Given the description of an element on the screen output the (x, y) to click on. 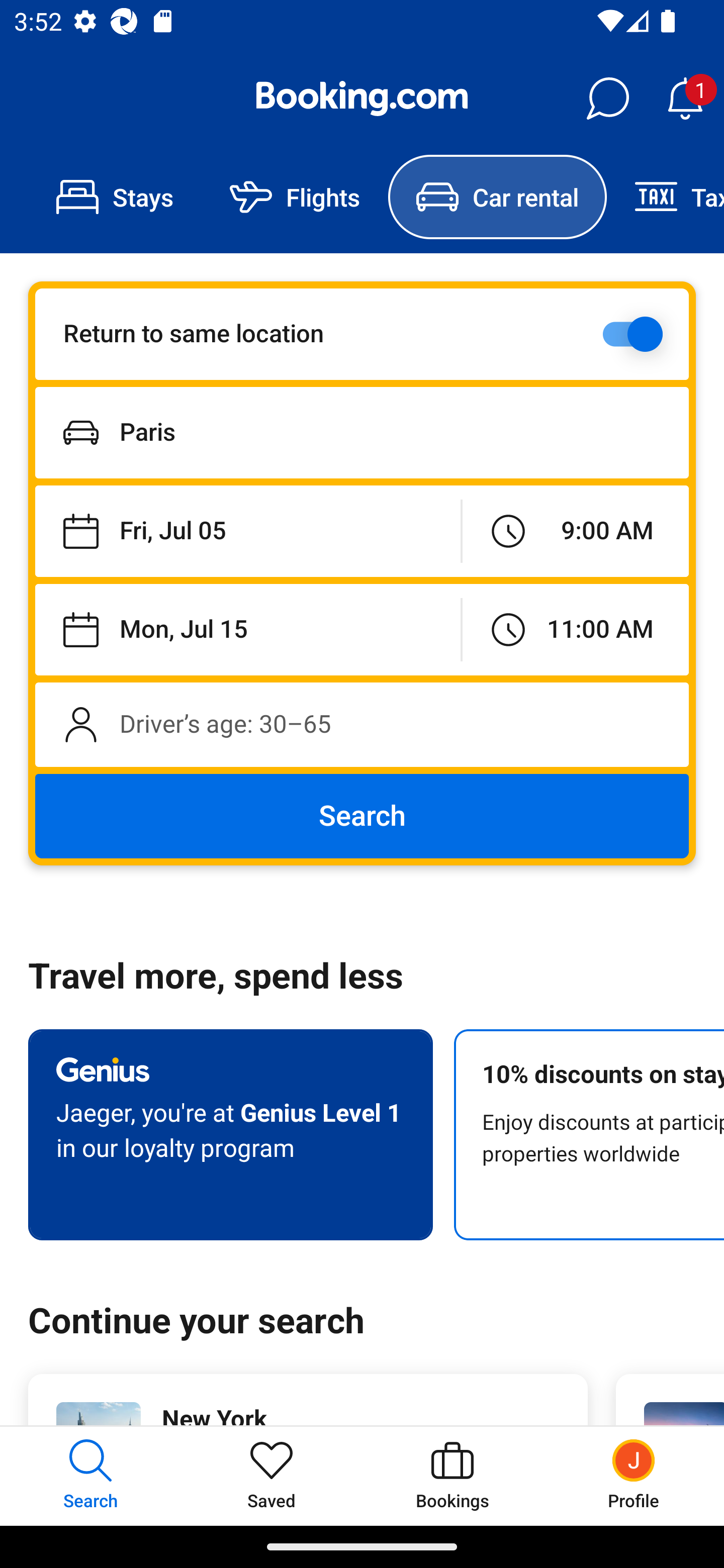
Messages (607, 98)
Notifications (685, 98)
Stays (114, 197)
Flights (294, 197)
Car rental (497, 197)
Taxi (665, 197)
Pick-up location: Text(name=Paris) (361, 432)
Pick-up date: 2024-07-05 (247, 531)
Pick-up time: 09:00:00.000 (575, 531)
Drop-off date: 2024-07-15 (247, 629)
Drop-off time: 11:00:00.000 (575, 629)
Enter the driver's age (361, 724)
Search (361, 815)
Saved (271, 1475)
Bookings (452, 1475)
Profile (633, 1475)
